Given the description of an element on the screen output the (x, y) to click on. 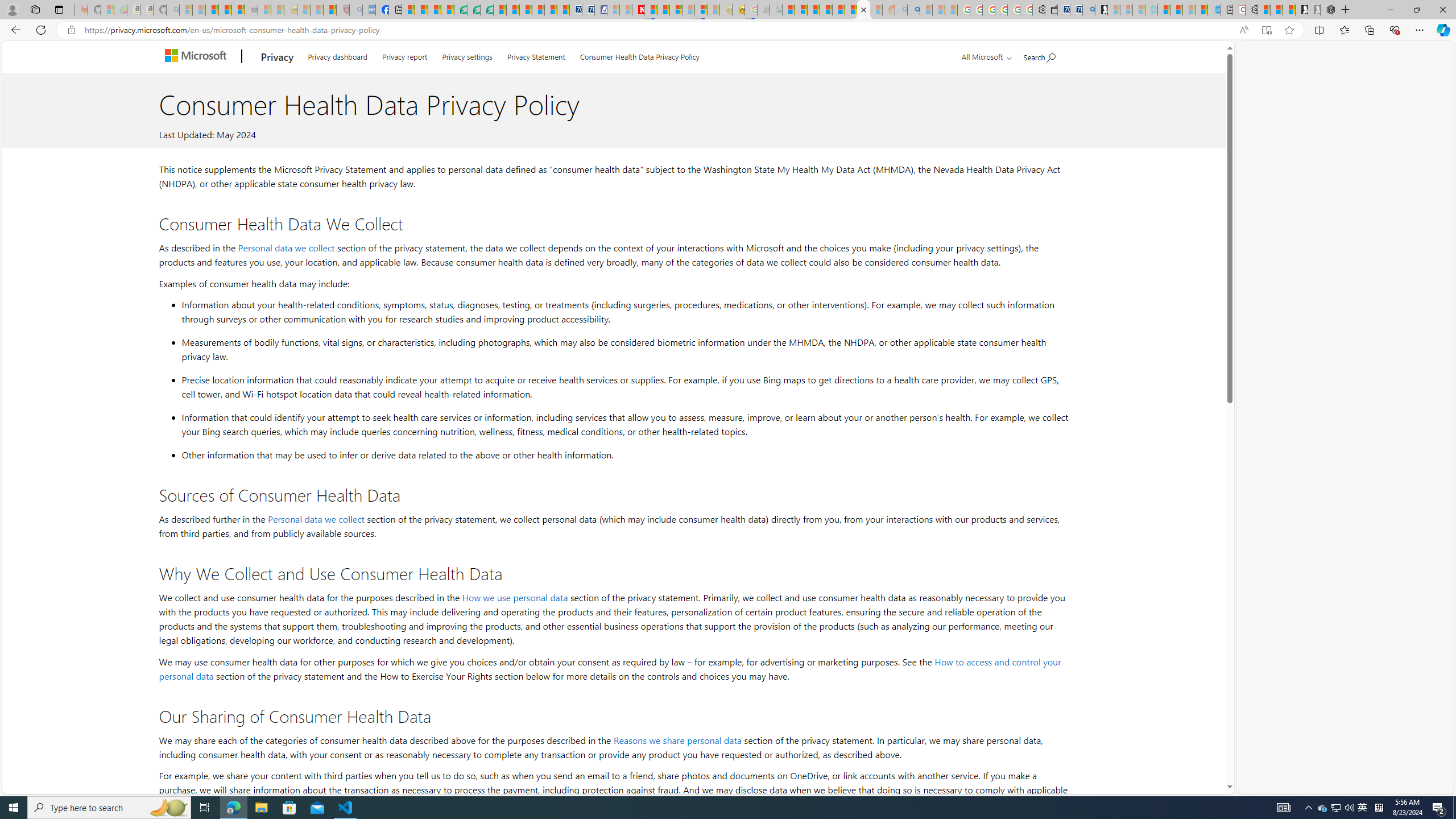
Privacy report (404, 54)
Microsoft (197, 56)
Privacy dashboard (337, 54)
